Given the description of an element on the screen output the (x, y) to click on. 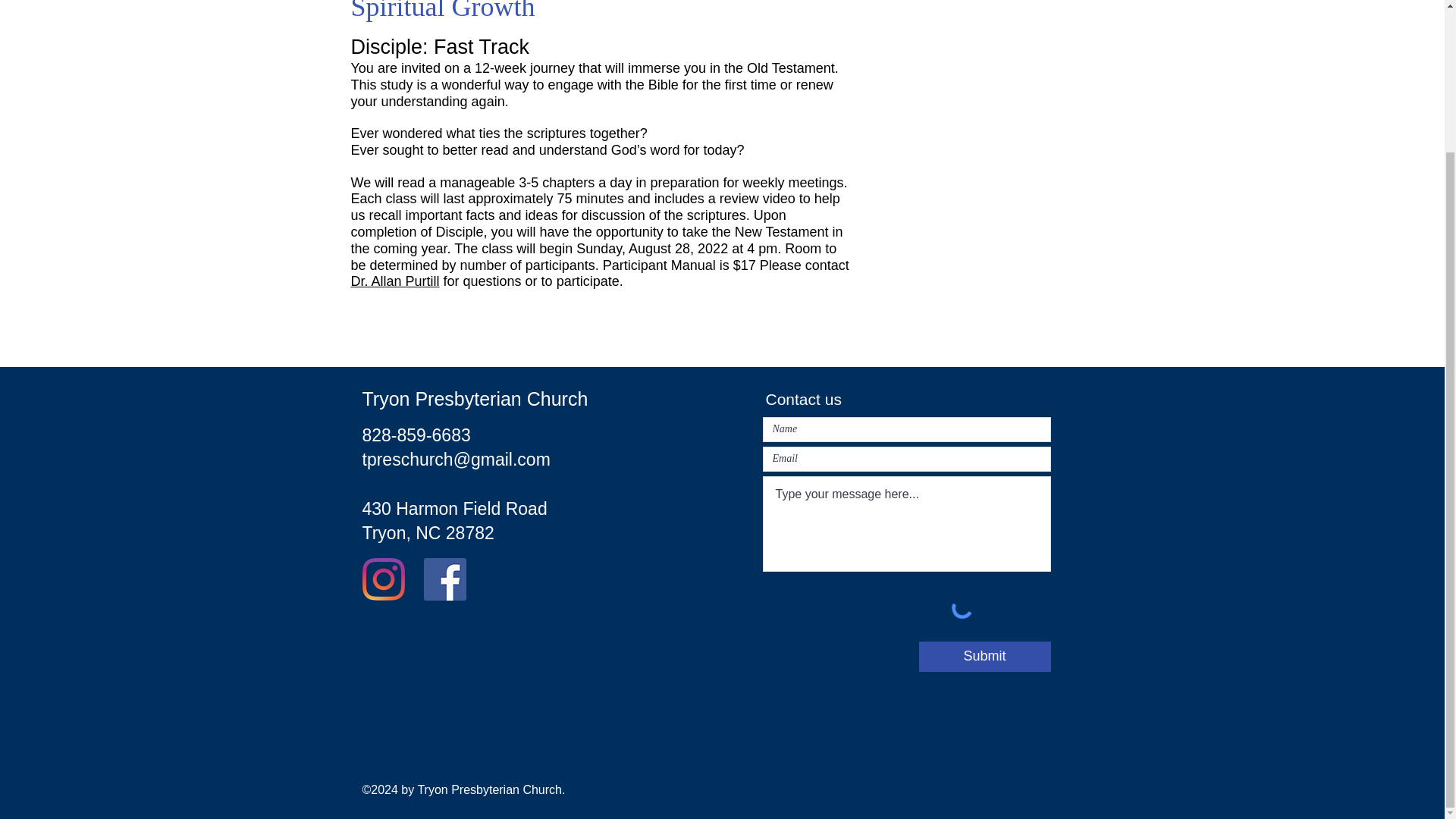
Submit (984, 656)
Dr. Allan Purtill (394, 281)
